Given the description of an element on the screen output the (x, y) to click on. 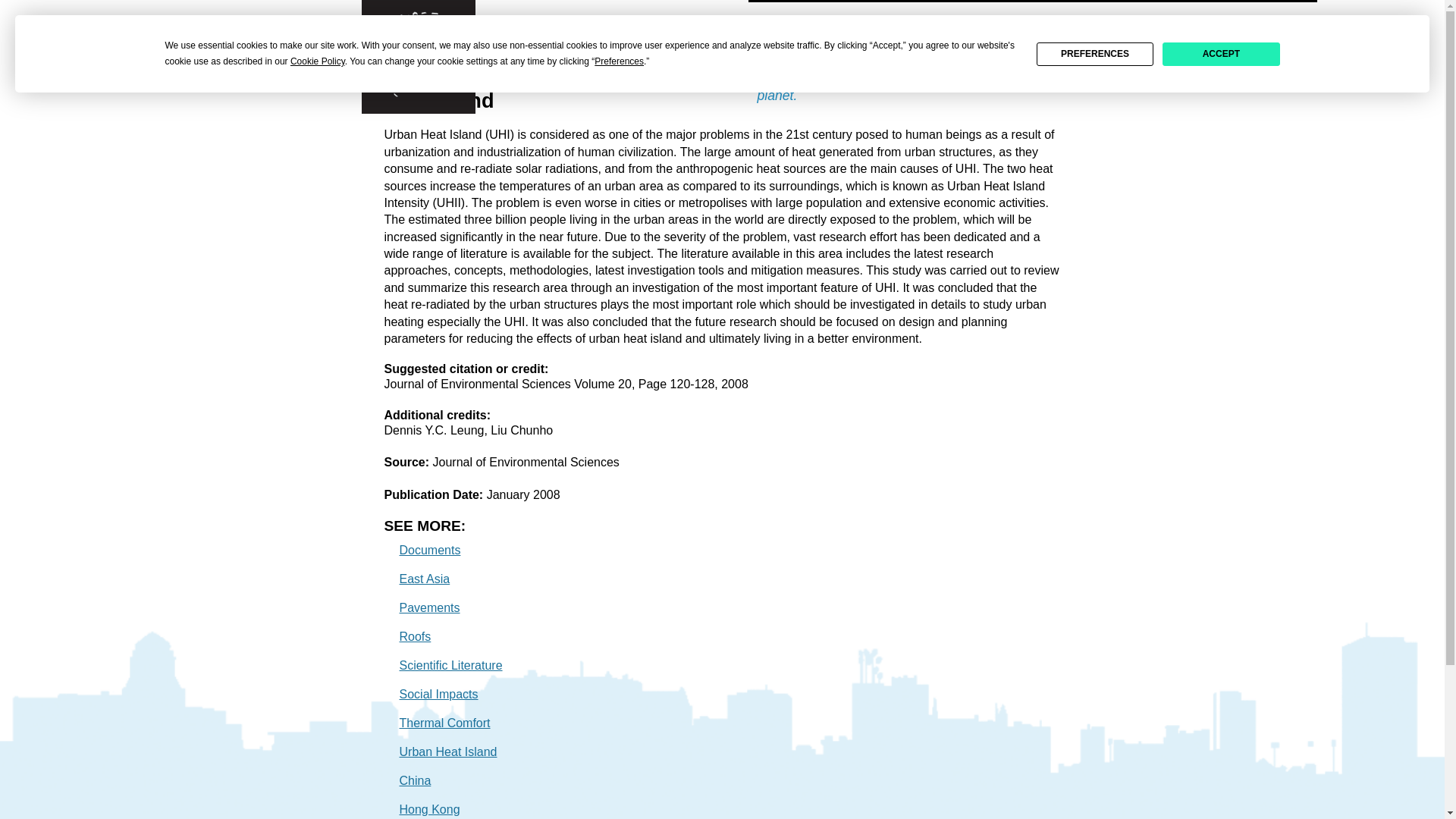
The Science (1081, 21)
Urban Heat Island (447, 751)
East Asia (423, 578)
The Benefits (938, 21)
About (1208, 21)
Pavements (429, 607)
China (414, 780)
Roofs (414, 635)
Documents (429, 549)
Global Cool Cities Alliance (447, 18)
Social Impacts (437, 694)
Scientific Literature (450, 665)
Hong Kong (429, 809)
PREFERENCES (1094, 54)
Thermal Comfort (443, 722)
